Given the description of an element on the screen output the (x, y) to click on. 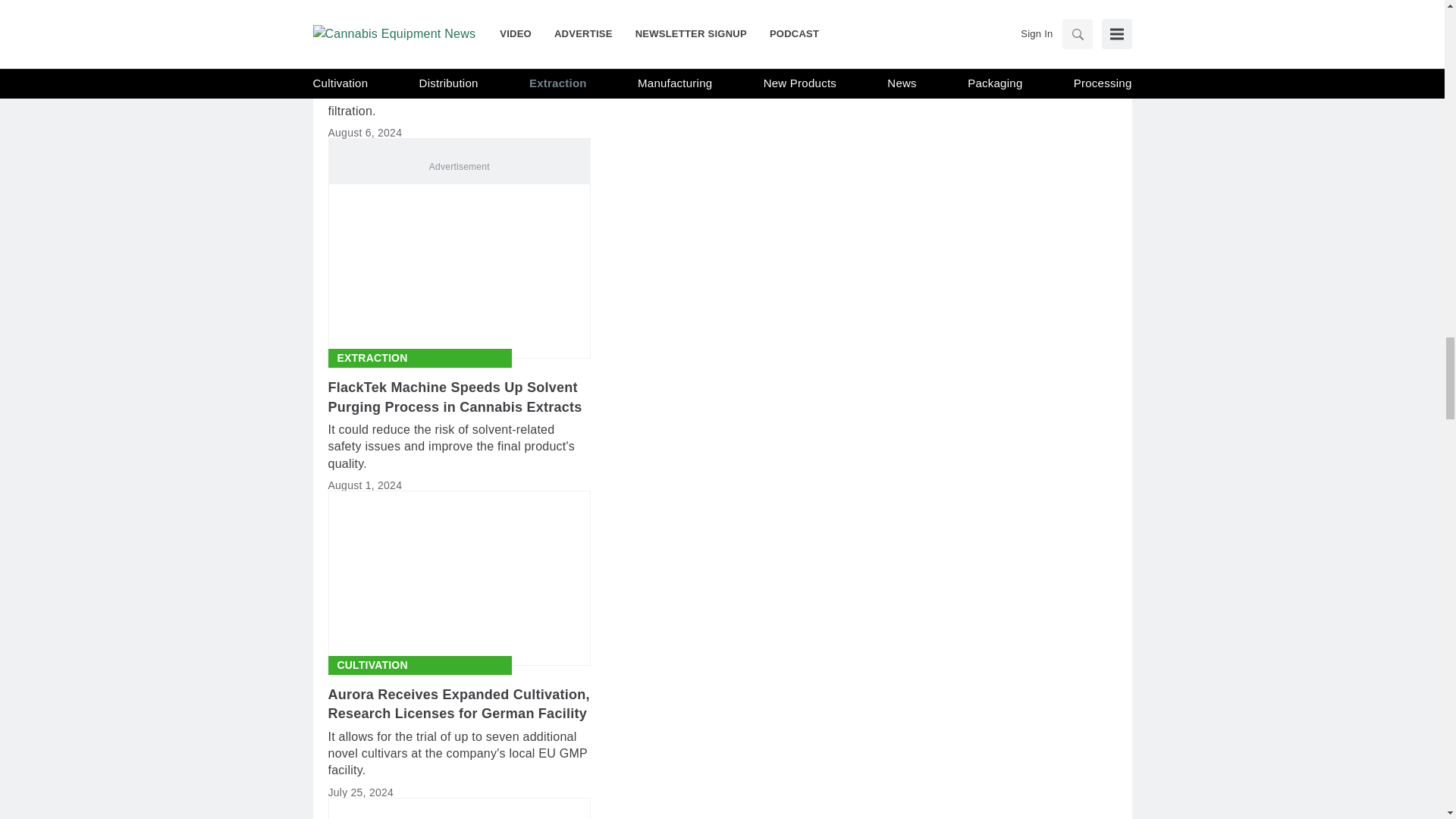
Extraction (371, 358)
Extraction (371, 23)
Cultivation (371, 665)
